Given the description of an element on the screen output the (x, y) to click on. 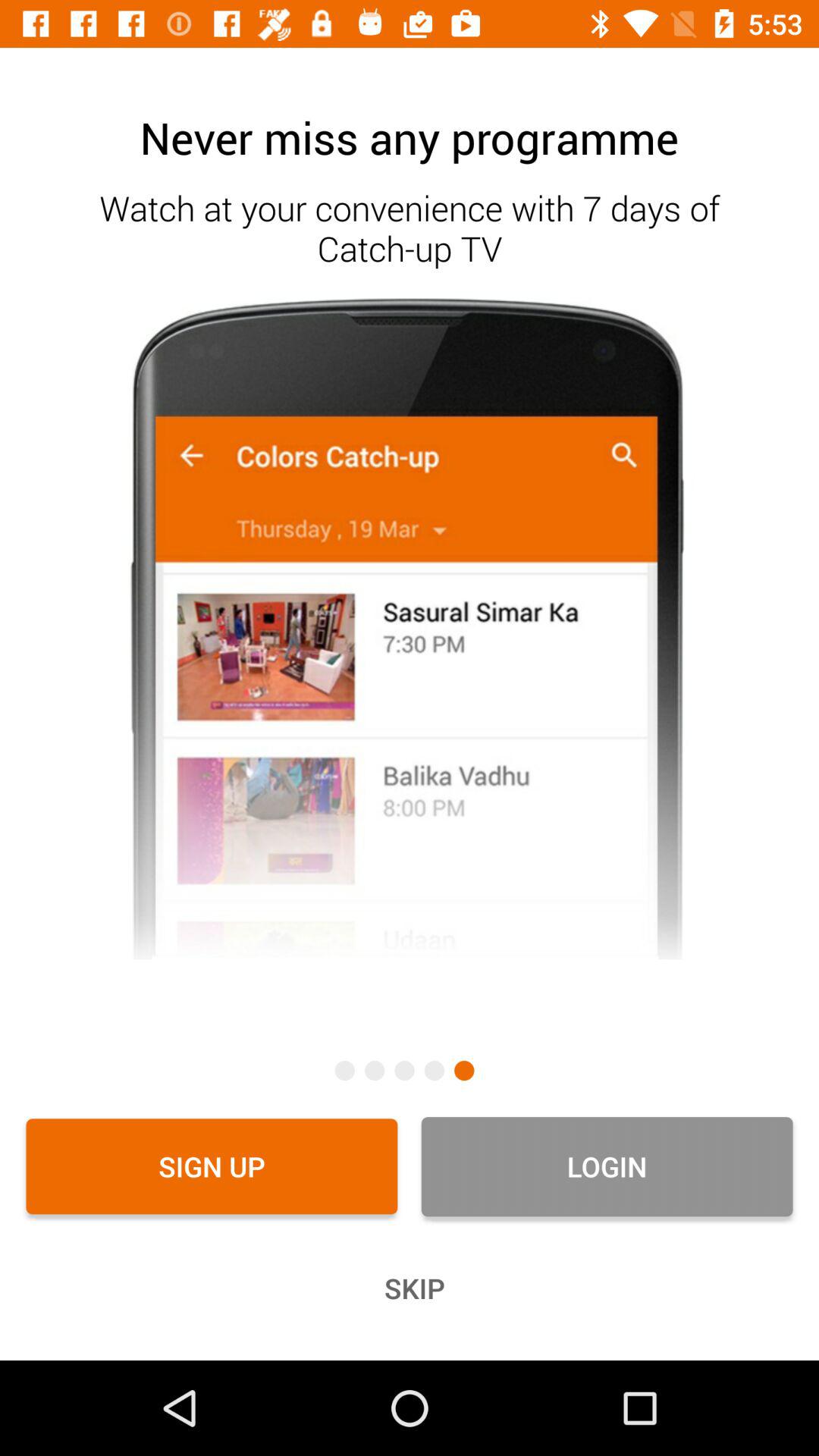
open the login item (606, 1166)
